Given the description of an element on the screen output the (x, y) to click on. 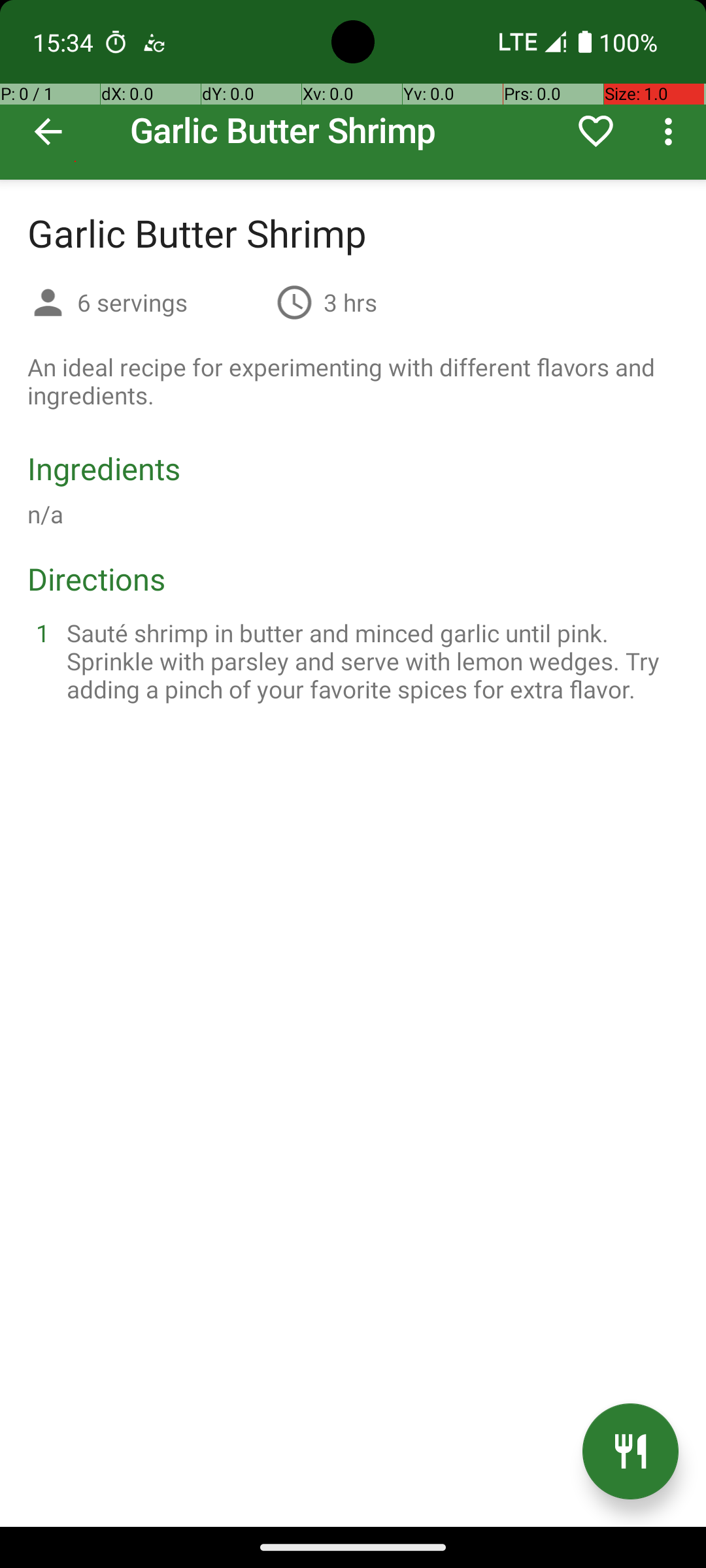
n/a Element type: android.widget.TextView (45, 513)
Sauté shrimp in butter and minced garlic until pink. Sprinkle with parsley and serve with lemon wedges. Try adding a pinch of your favorite spices for extra flavor. Element type: android.widget.TextView (368, 660)
